Given the description of an element on the screen output the (x, y) to click on. 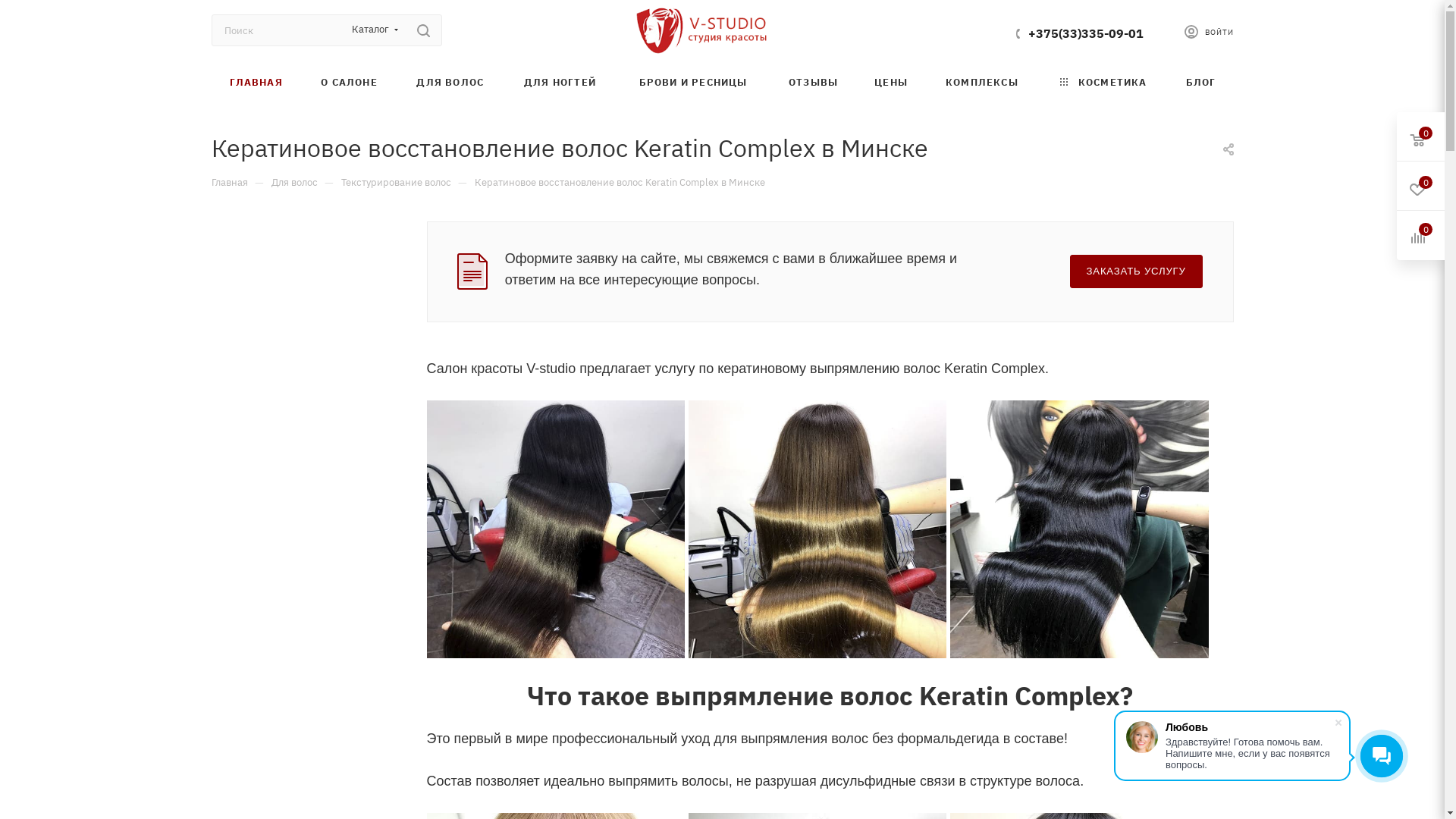
65c139737bec78f3dec351efd0c64b82.jpg Element type: hover (555, 529)
v-studio.by Element type: hover (701, 30)
c622dcb4c2428721bfc0bf8dfbfc5fe8.jpg Element type: hover (1079, 529)
7038653d68adbbb62975acc2af3a82d0.jpg Element type: hover (817, 529)
+375(33)335-09-01 Element type: text (1085, 32)
